Given the description of an element on the screen output the (x, y) to click on. 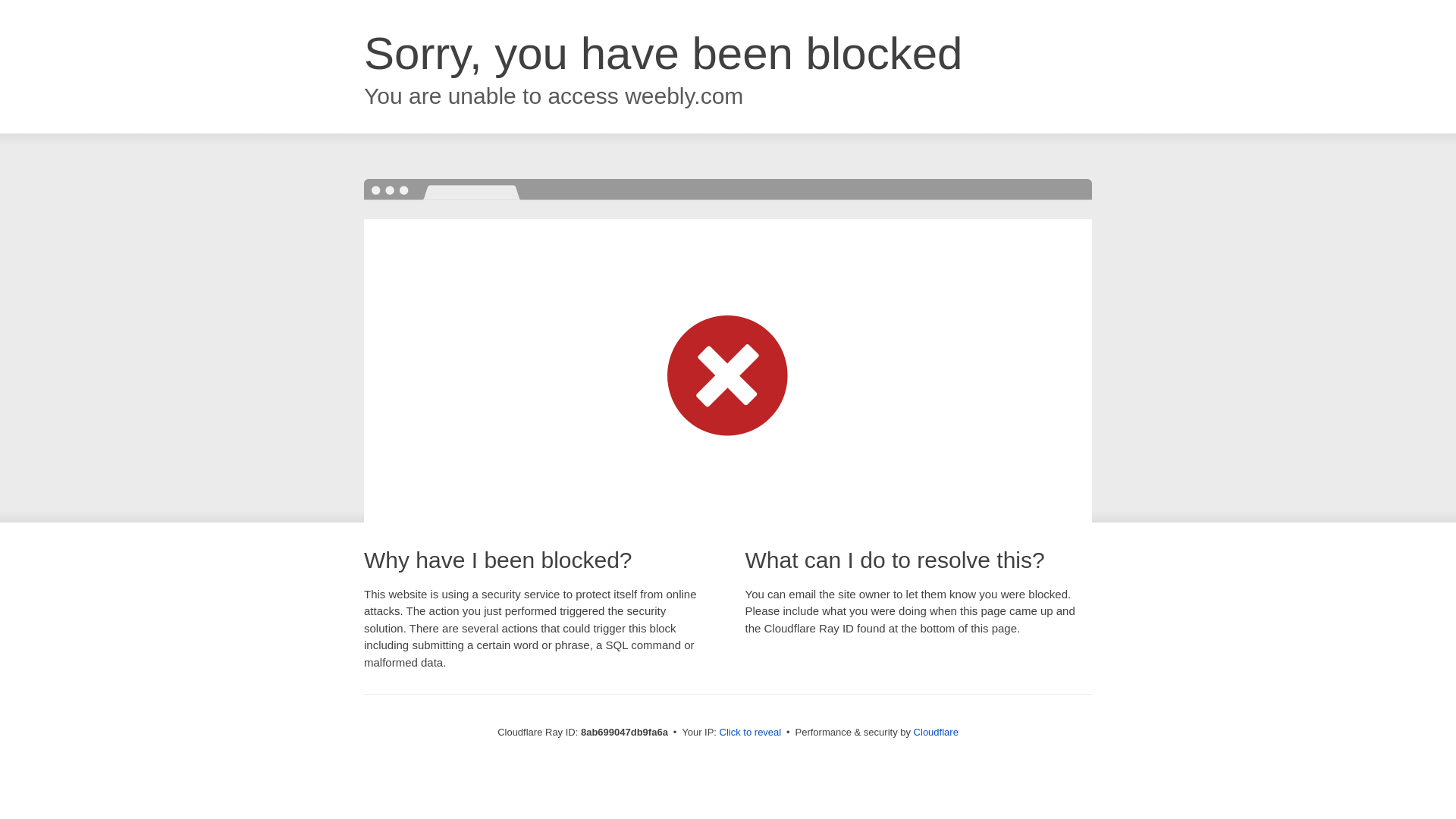
Cloudflare (936, 731)
Click to reveal (750, 732)
